Given the description of an element on the screen output the (x, y) to click on. 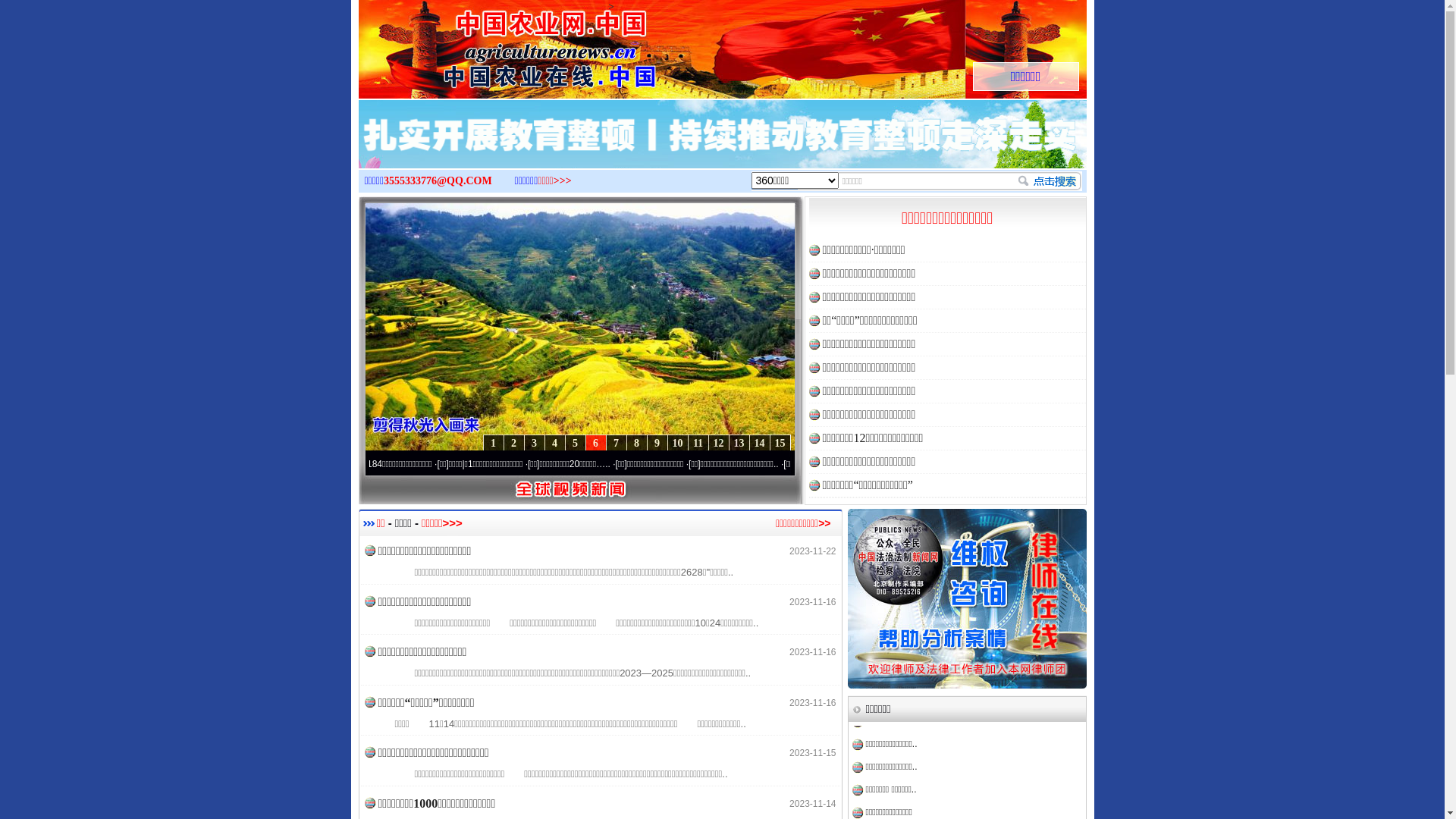
14 Element type: text (759, 442)
4 Element type: text (554, 442)
2 Element type: text (513, 442)
13 Element type: text (738, 442)
5 Element type: text (574, 442)
3555333776@QQ.COM Element type: text (437, 180)
15 Element type: text (778, 442)
8 Element type: text (636, 442)
12 Element type: text (718, 442)
11 Element type: text (697, 442)
7 Element type: text (615, 442)
10 Element type: text (677, 442)
9 Element type: text (656, 442)
6 Element type: text (595, 442)
3 Element type: text (533, 442)
1 Element type: text (492, 442)
